Given the description of an element on the screen output the (x, y) to click on. 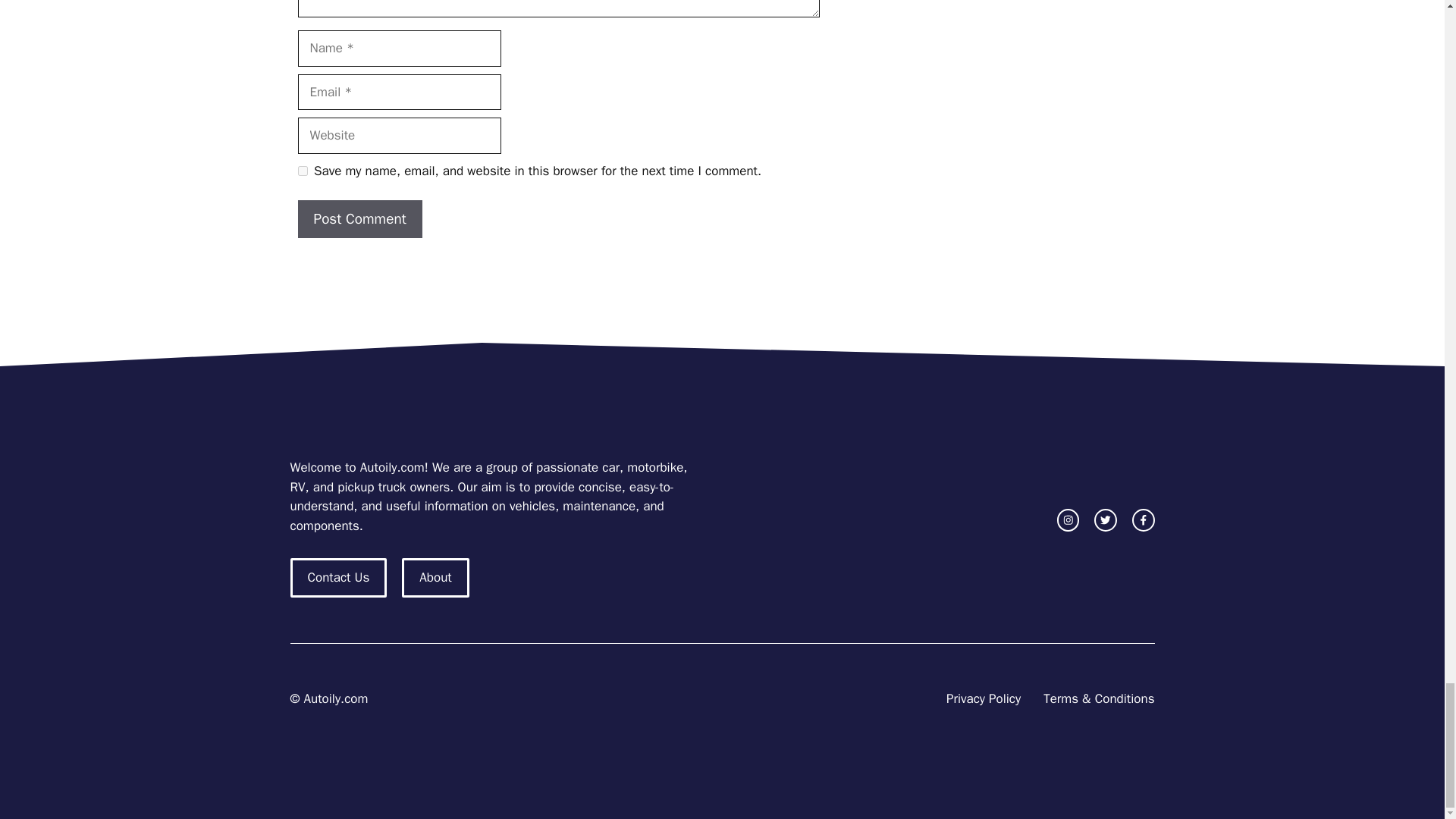
Post Comment (359, 219)
Contact Us (338, 577)
yes (302, 171)
About (434, 577)
Post Comment (359, 219)
Privacy Policy (983, 699)
